Given the description of an element on the screen output the (x, y) to click on. 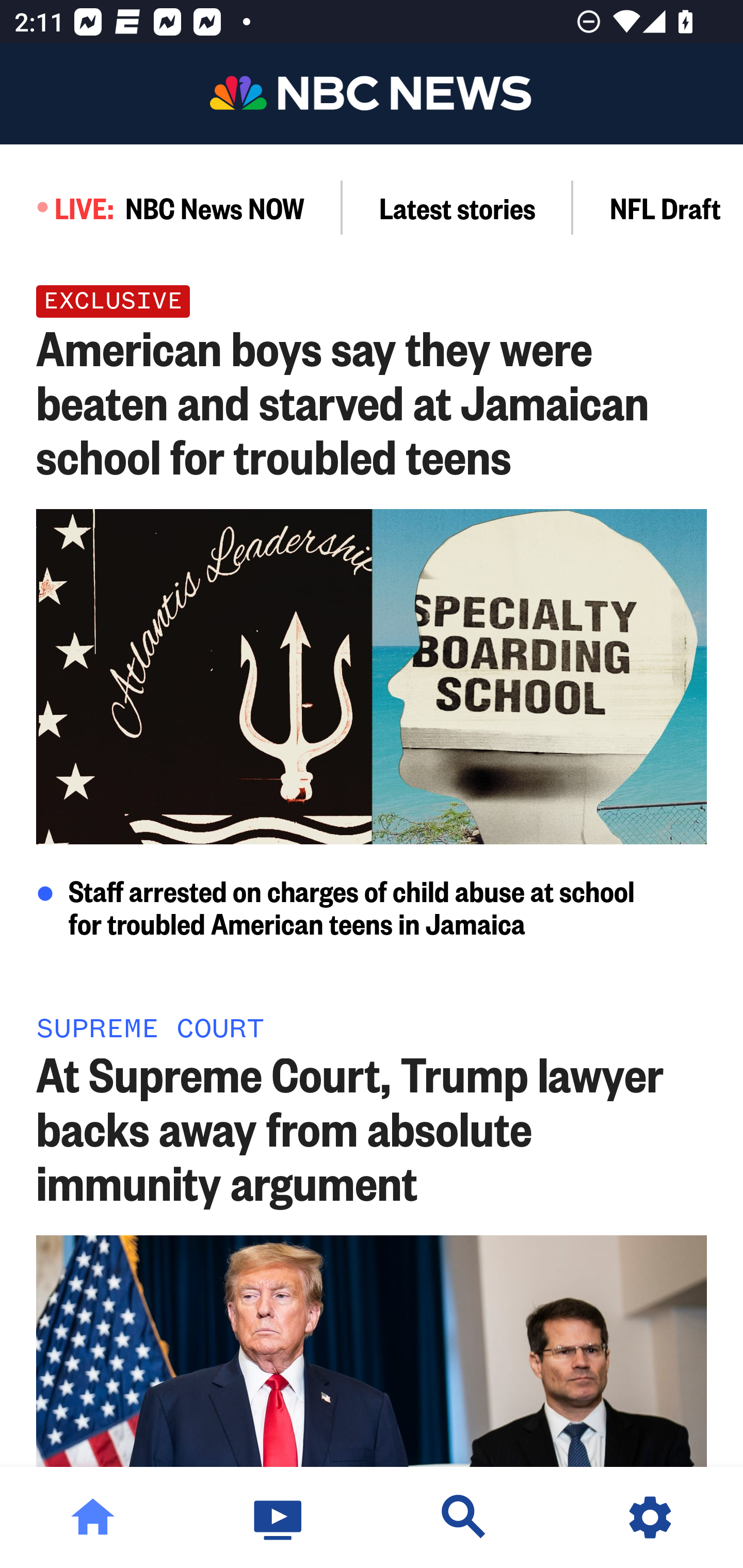
LIVE:  NBC News NOW (171, 207)
Latest stories Section,Latest stories (457, 207)
NFL Draft (658, 207)
Watch (278, 1517)
Discover (464, 1517)
Settings (650, 1517)
